Given the description of an element on the screen output the (x, y) to click on. 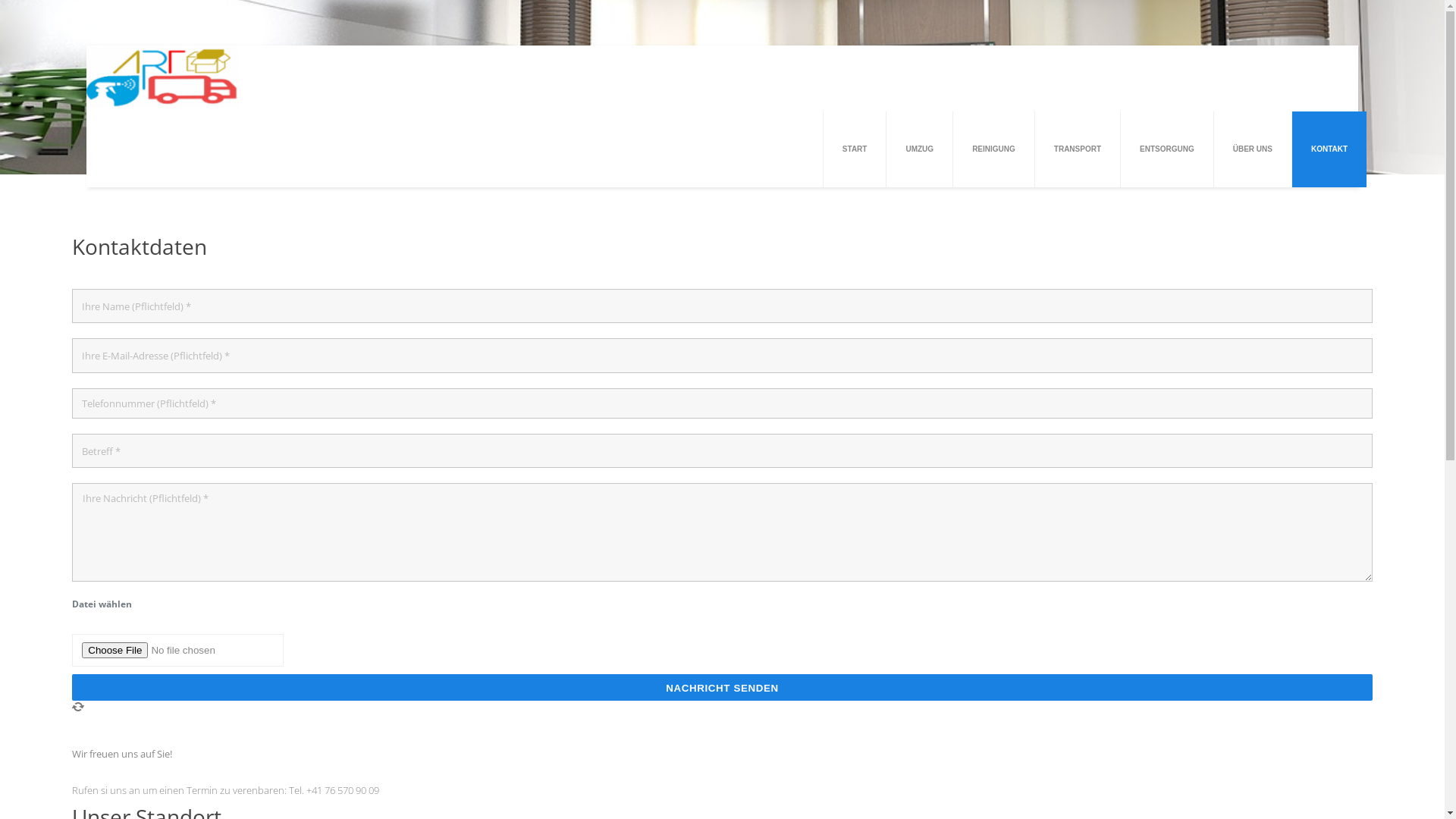
Nachricht senden Element type: text (722, 687)
asdasd Element type: hover (162, 76)
TRANSPORT Element type: text (1077, 149)
ENTSORGUNG Element type: text (1166, 149)
UMZUG Element type: text (919, 149)
START Element type: text (854, 149)
REINIGUNG Element type: text (993, 149)
KONTAKT Element type: text (1329, 149)
